Given the description of an element on the screen output the (x, y) to click on. 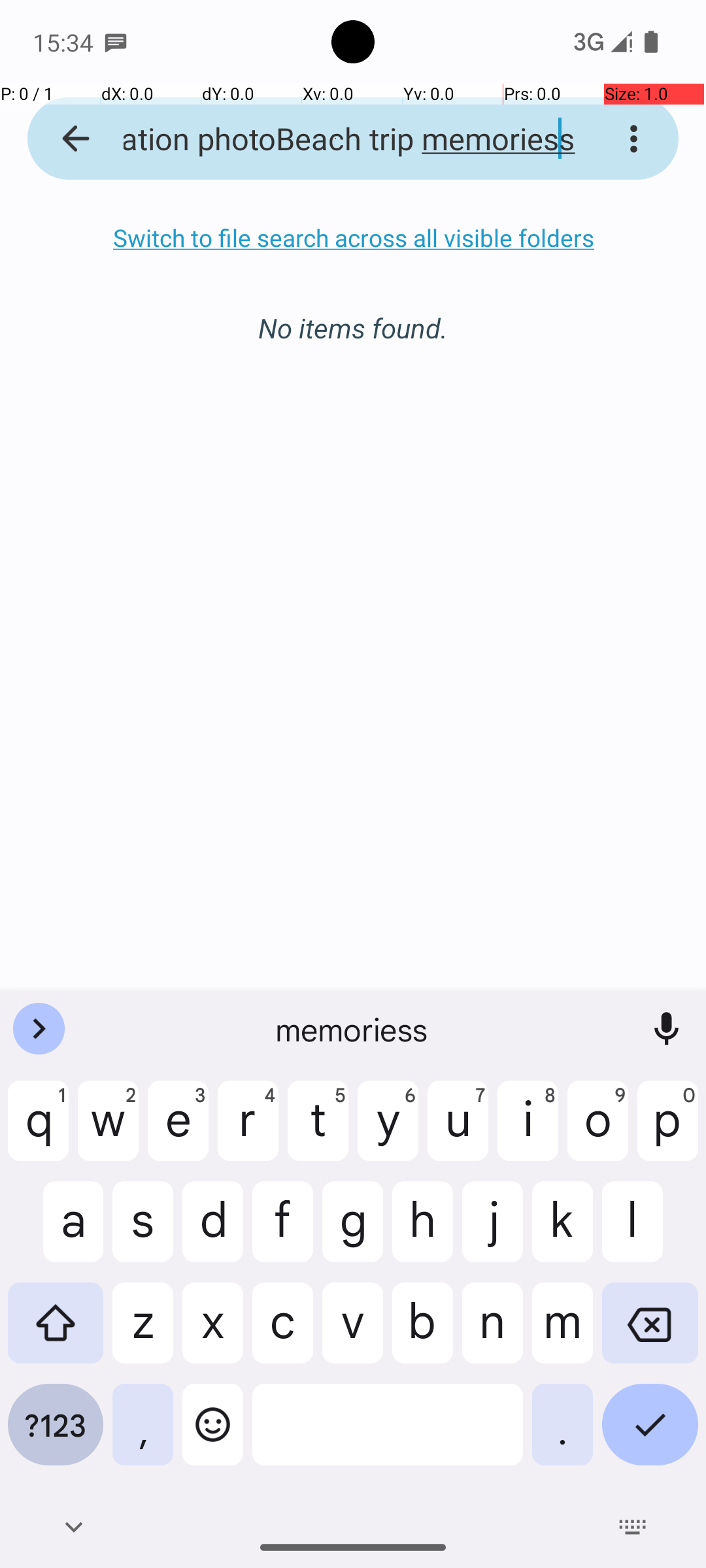
Switch to file search across all visible folders Element type: android.widget.TextView (353, 237)
No items found. Element type: android.widget.TextView (353, 313)
Vacation photoBeach trip memoriess Element type: android.widget.EditText (335, 138)
memoriess Element type: android.widget.FrameLayout (352, 1028)
